Given the description of an element on the screen output the (x, y) to click on. 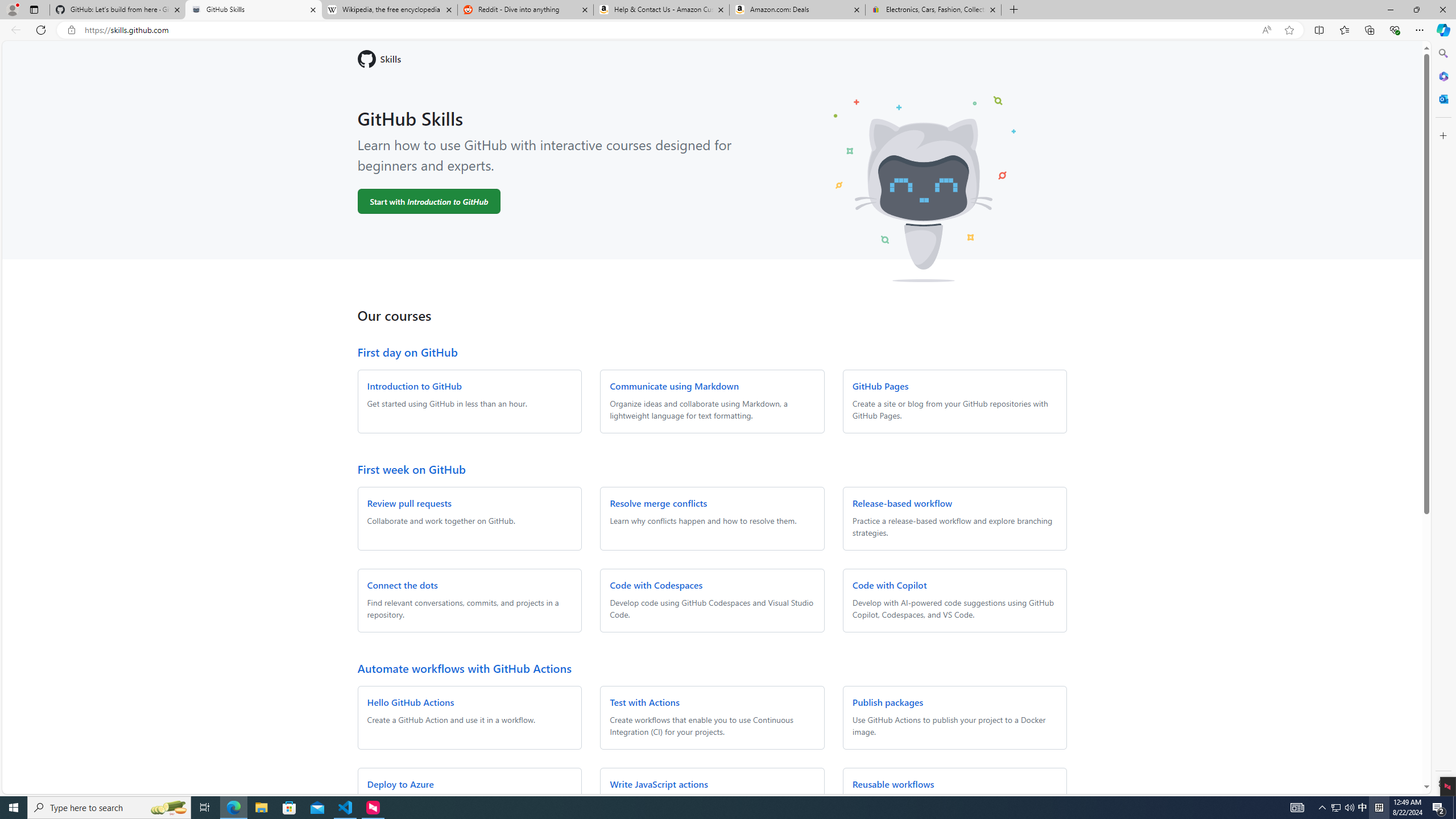
GitHub Skills (253, 9)
GitHub Pages (879, 385)
Test with Actions (644, 702)
Code with Codespaces (656, 585)
Skills (711, 58)
Amazon.com: Deals (797, 9)
